Given the description of an element on the screen output the (x, y) to click on. 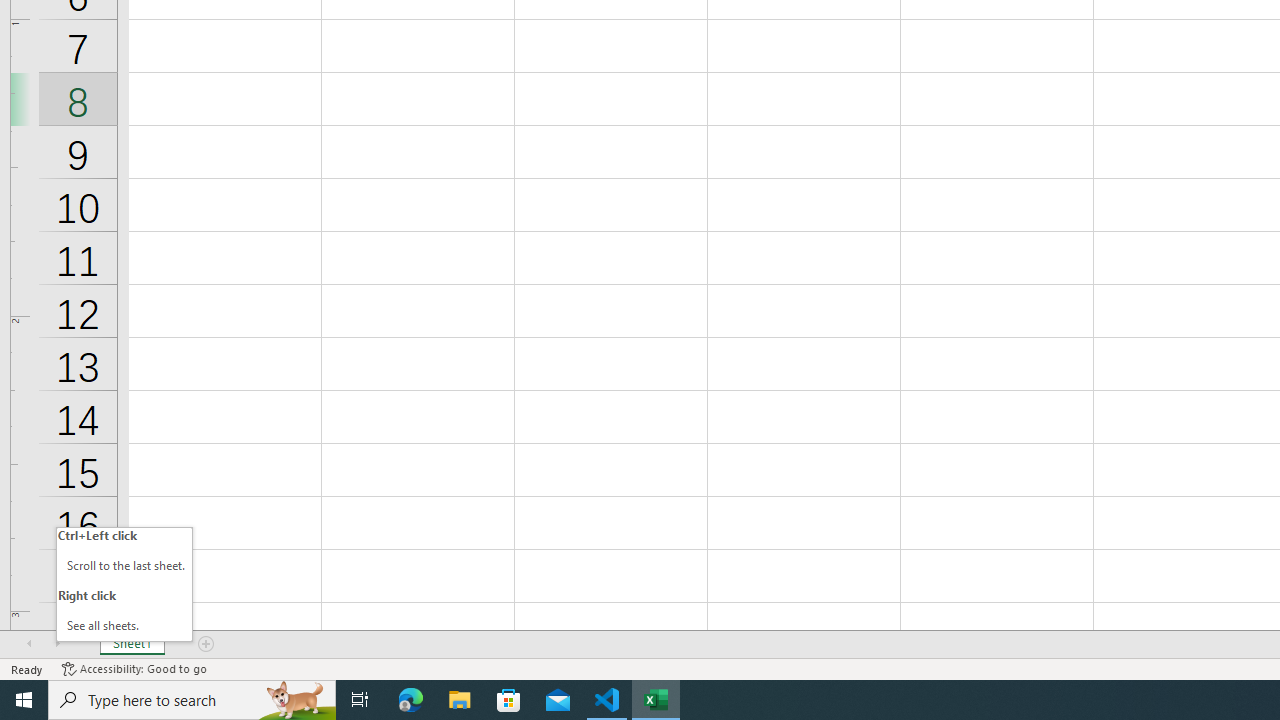
Sheet Tab (132, 644)
